Given the description of an element on the screen output the (x, y) to click on. 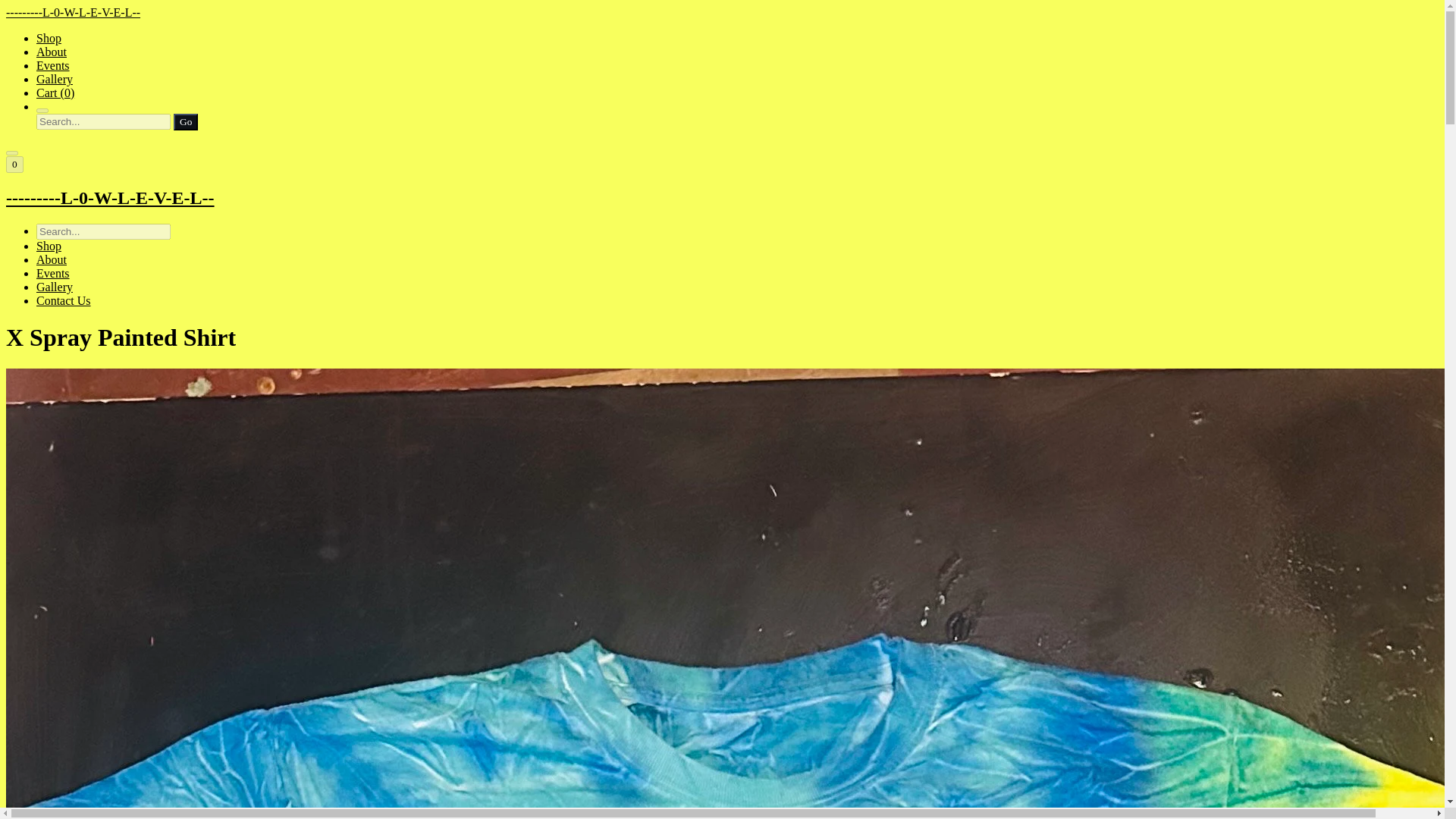
About (51, 259)
Go (185, 121)
Events (52, 65)
---------L-0-W-L-E-V-E-L-- (721, 198)
Shop (48, 245)
Shop (48, 38)
Gallery (54, 78)
Go (185, 121)
Events (52, 273)
0 (14, 164)
About (51, 51)
Contact Us (63, 300)
Gallery (54, 286)
